Given the description of an element on the screen output the (x, y) to click on. 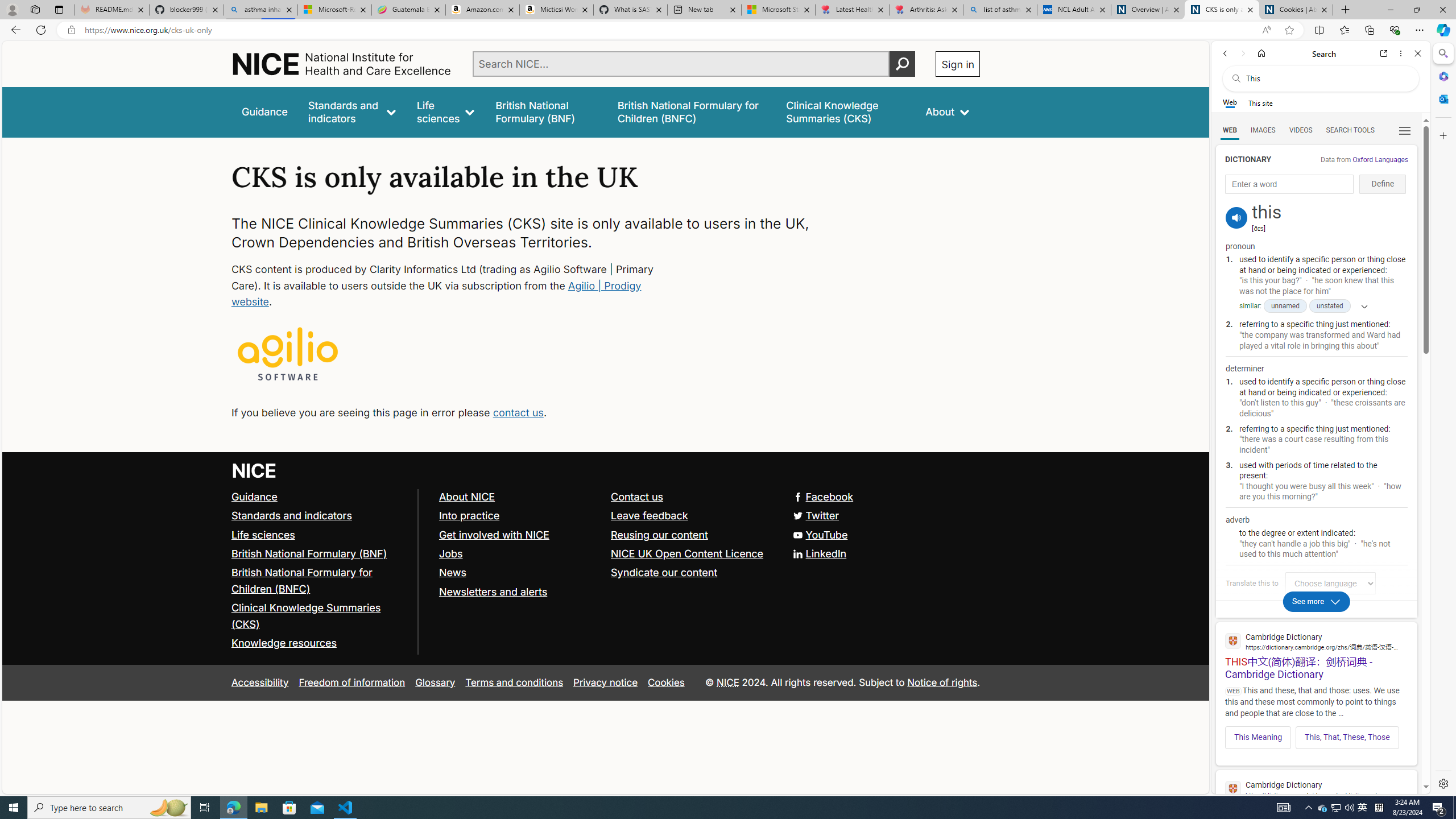
Logo for Clarity Consulting (288, 355)
LinkedIn (605, 553)
Translate this to Choose language (1329, 582)
Link for logging (1333, 582)
Terms and conditions (514, 682)
Get involved with NICE (518, 534)
contact us (517, 412)
